Given the description of an element on the screen output the (x, y) to click on. 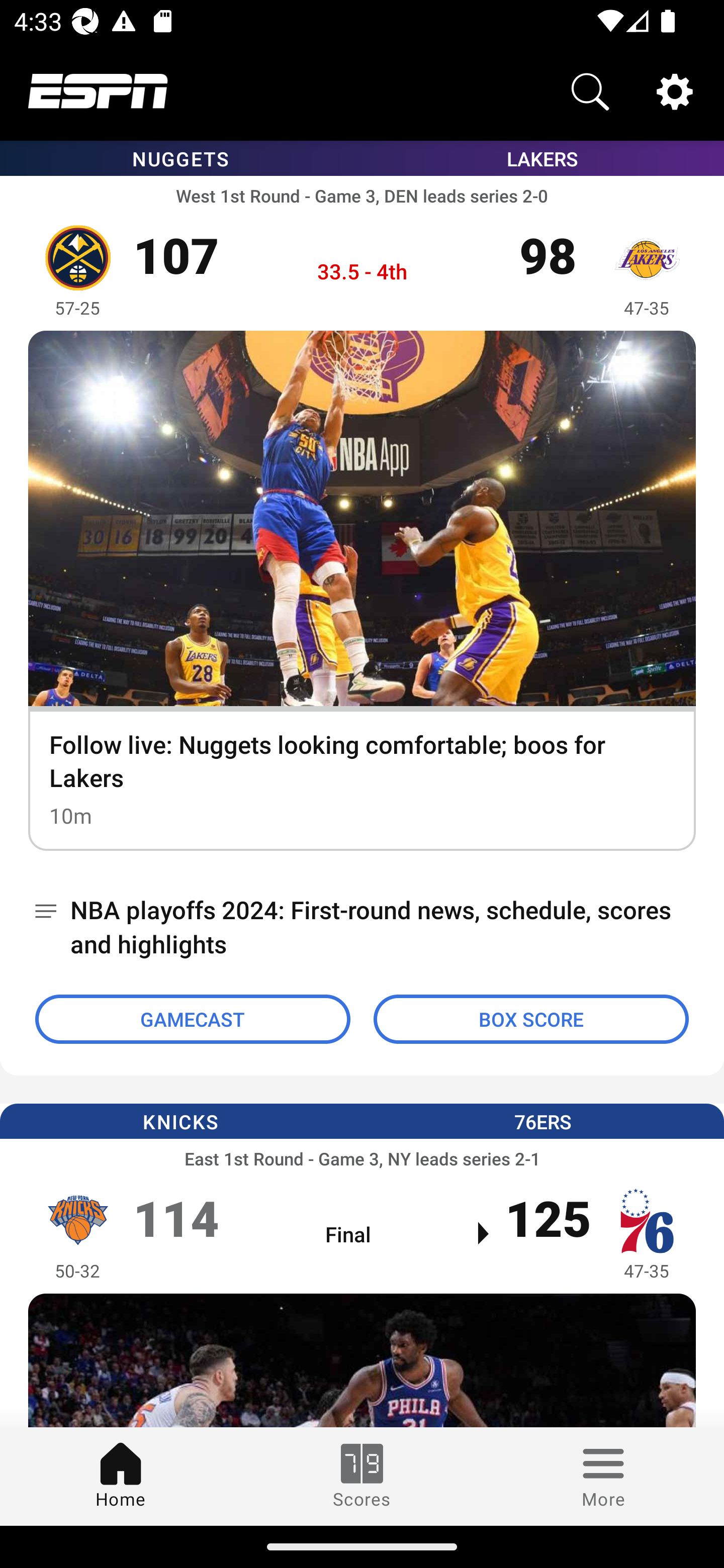
Search (590, 90)
Settings (674, 90)
GAMECAST (192, 1019)
BOX SCORE (530, 1019)
Scores (361, 1475)
More (603, 1475)
